Given the description of an element on the screen output the (x, y) to click on. 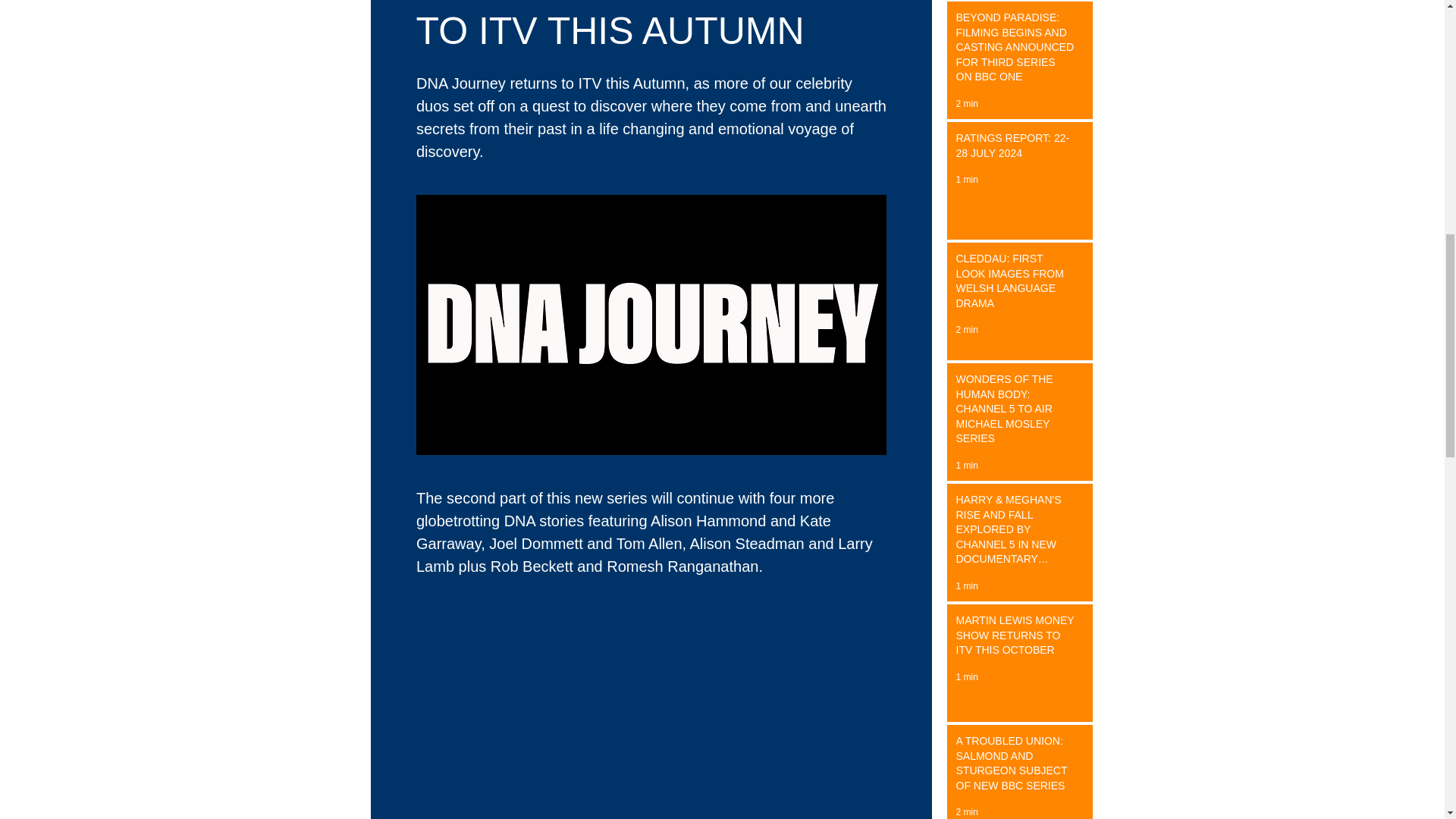
RATINGS REPORT: 22-28 JULY 2024 (1014, 149)
1 min (965, 465)
2 min (965, 103)
2 min (965, 329)
CLEDDAU: FIRST LOOK IMAGES FROM WELSH LANGUAGE DRAMA (1014, 283)
1 min (965, 585)
2 min (965, 811)
